Given the description of an element on the screen output the (x, y) to click on. 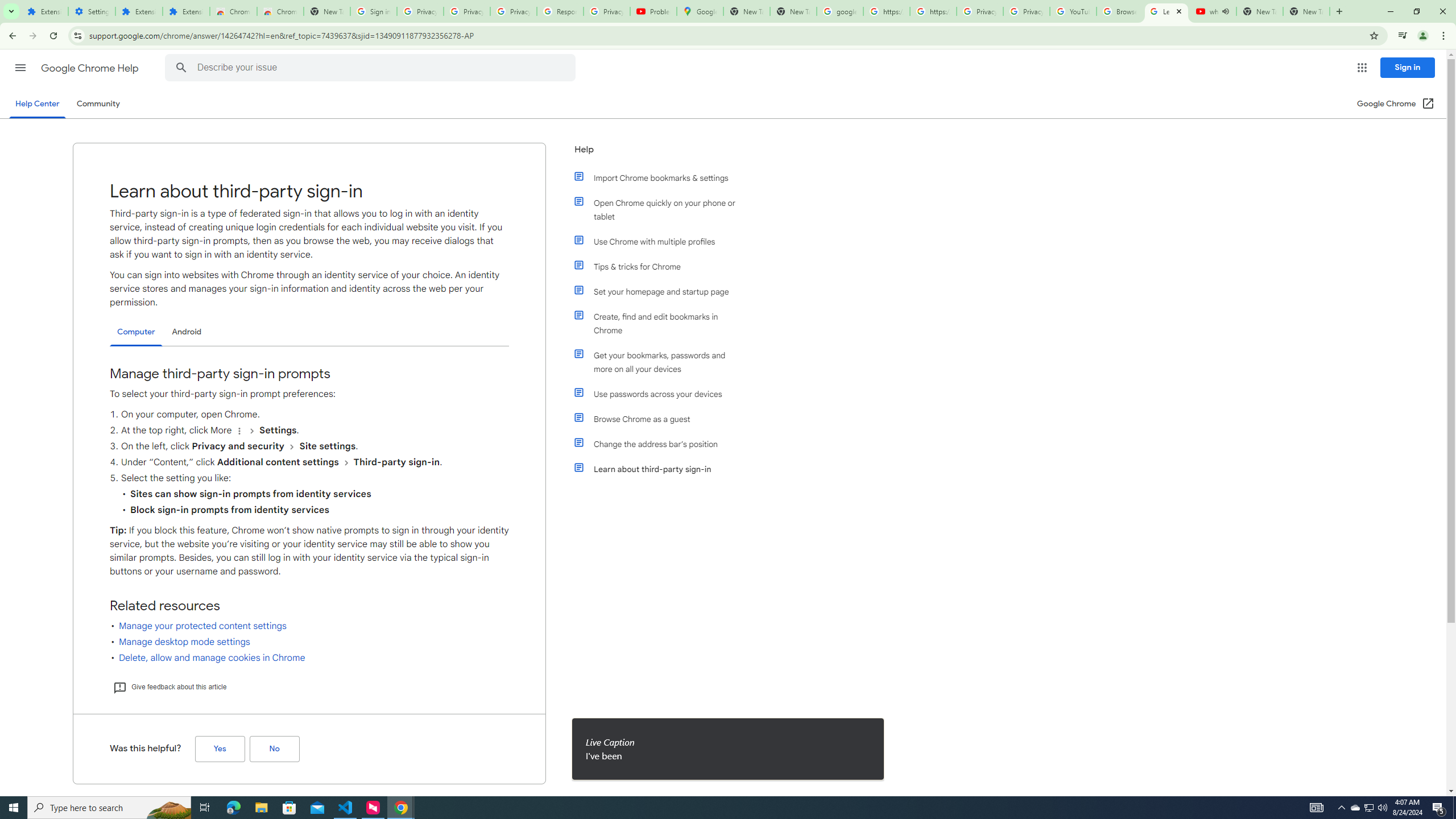
Tips & tricks for Chrome (661, 266)
Learn about third-party sign-in (661, 469)
Computer (136, 332)
Browse Chrome as a guest (661, 419)
Manage desktop mode settings (184, 641)
New Tab (326, 11)
